Given the description of an element on the screen output the (x, y) to click on. 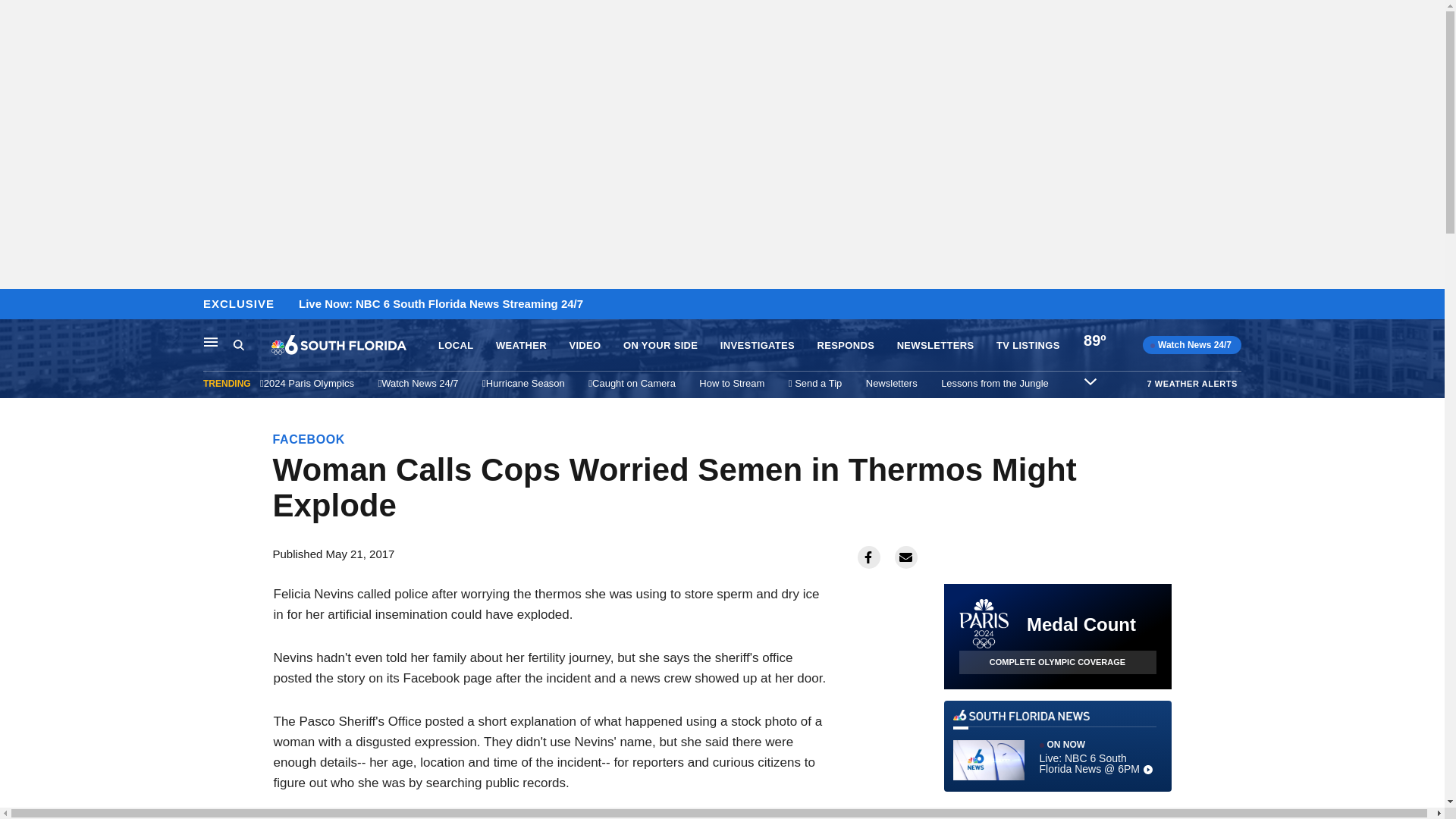
RESPONDS (845, 345)
Main Navigation (210, 341)
7 WEATHER ALERTS (1192, 383)
NEWSLETTERS (935, 345)
VIDEO (584, 345)
Lessons from the Jungle (994, 383)
TV LISTINGS (1027, 345)
INVESTIGATES (757, 345)
Expand (1090, 381)
Skip to content (16, 304)
